Given the description of an element on the screen output the (x, y) to click on. 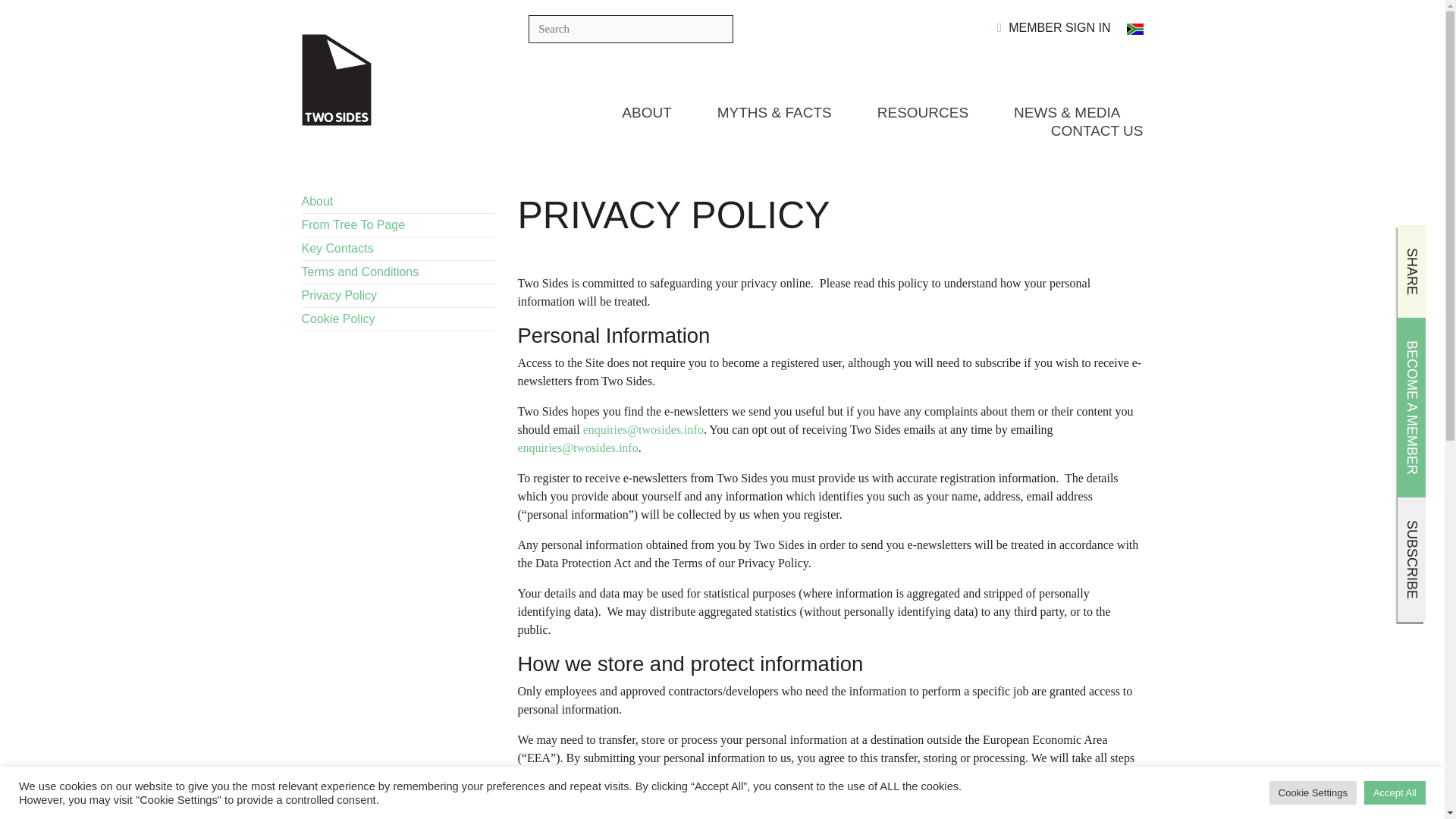
ABOUT (646, 112)
MEMBER SIGN IN (1053, 27)
